Given the description of an element on the screen output the (x, y) to click on. 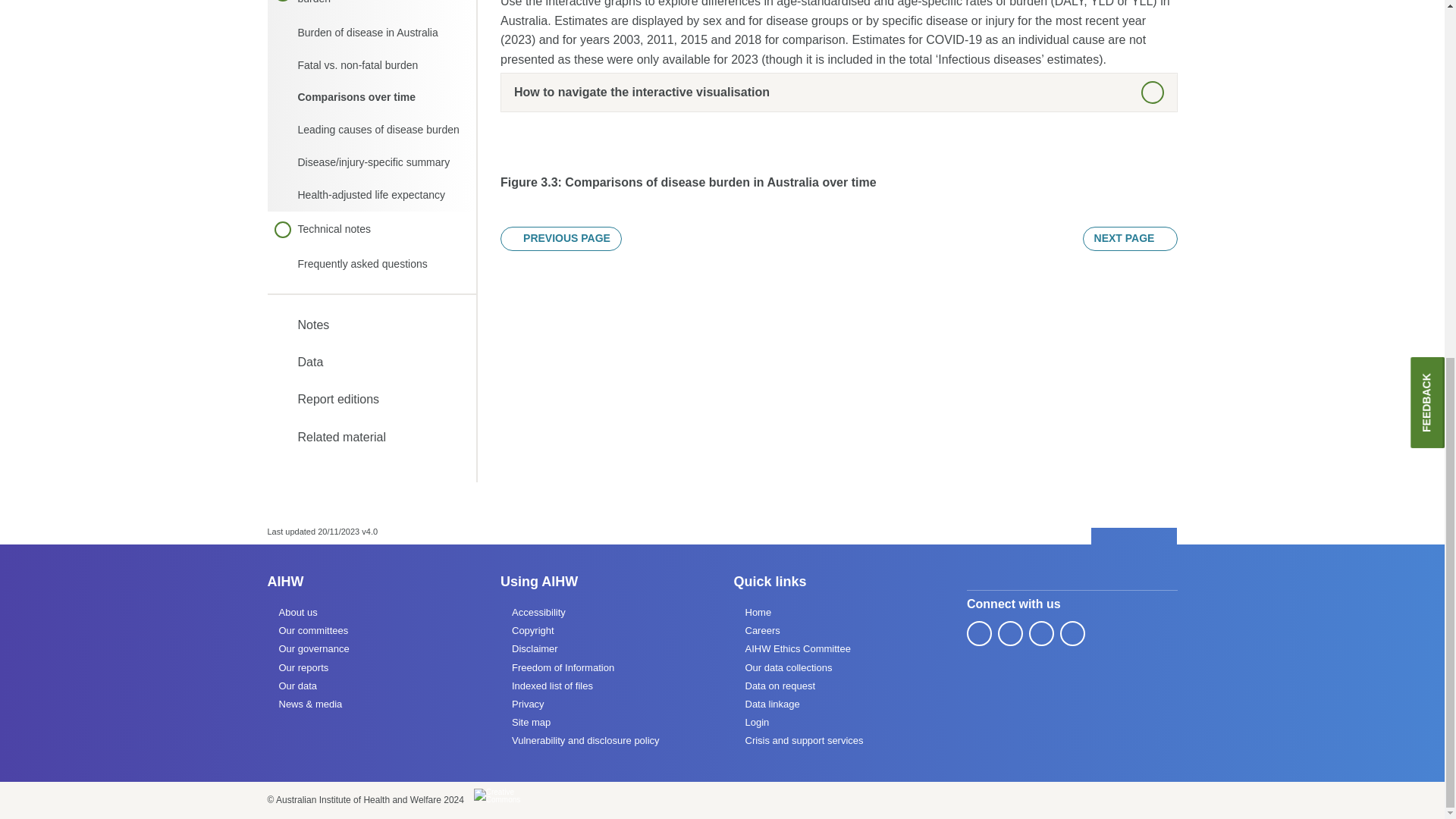
Back to top (1133, 537)
